Given the description of an element on the screen output the (x, y) to click on. 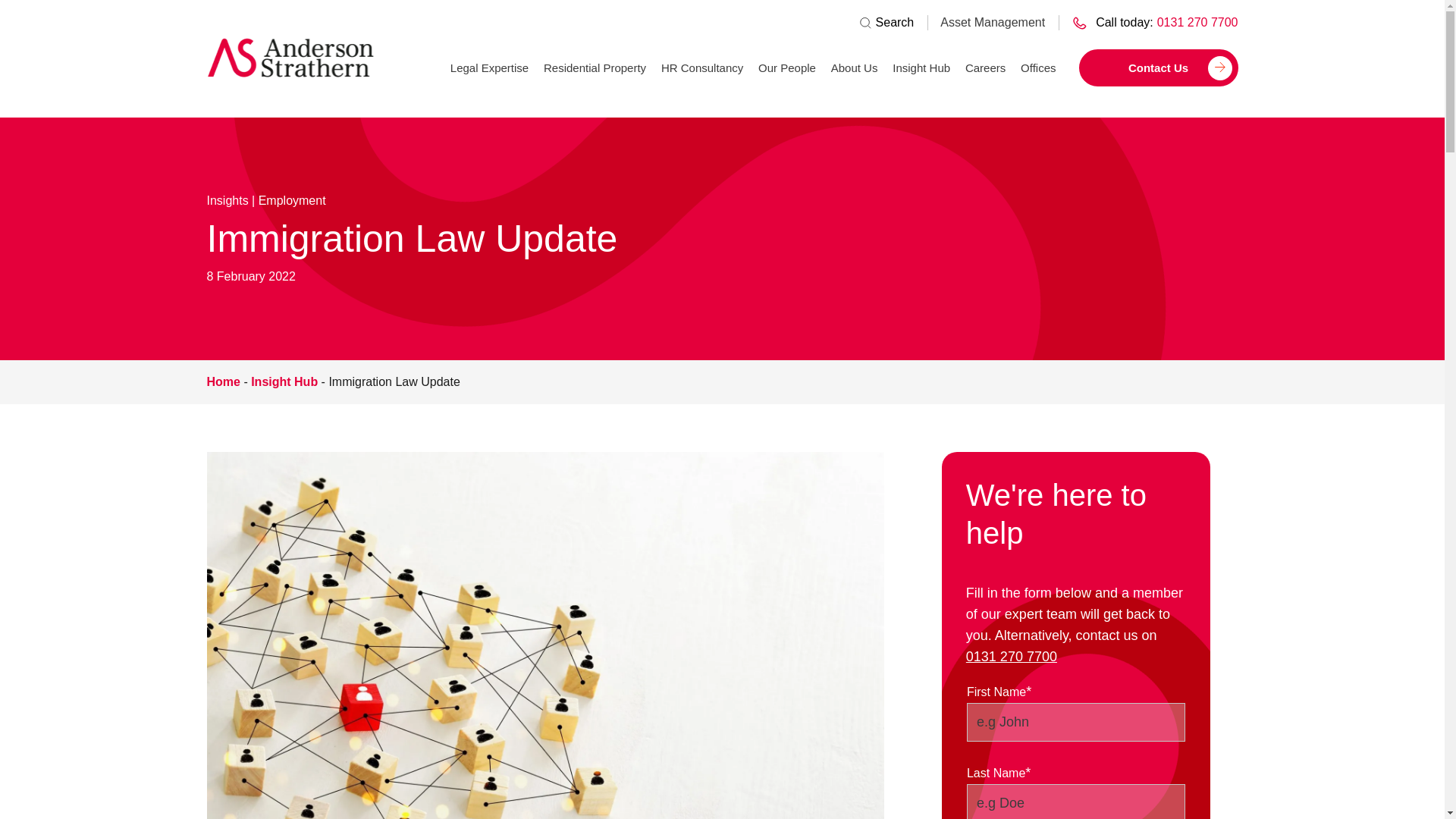
Asset Management (992, 21)
Legal Expertise (488, 73)
